Given the description of an element on the screen output the (x, y) to click on. 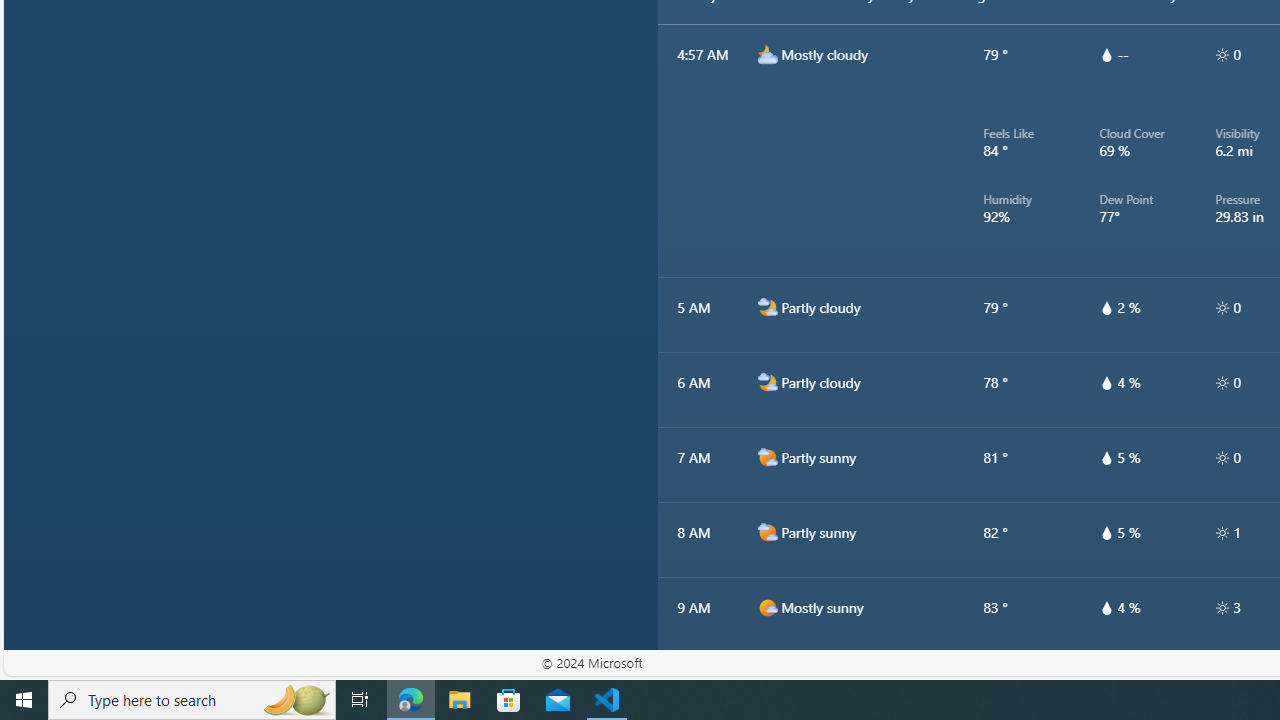
d1000 (767, 682)
hourlyTable/drop (1106, 607)
d2000 (767, 532)
n2000 (767, 382)
hourlyTable/uv (1222, 607)
n3000 (767, 54)
